Given the description of an element on the screen output the (x, y) to click on. 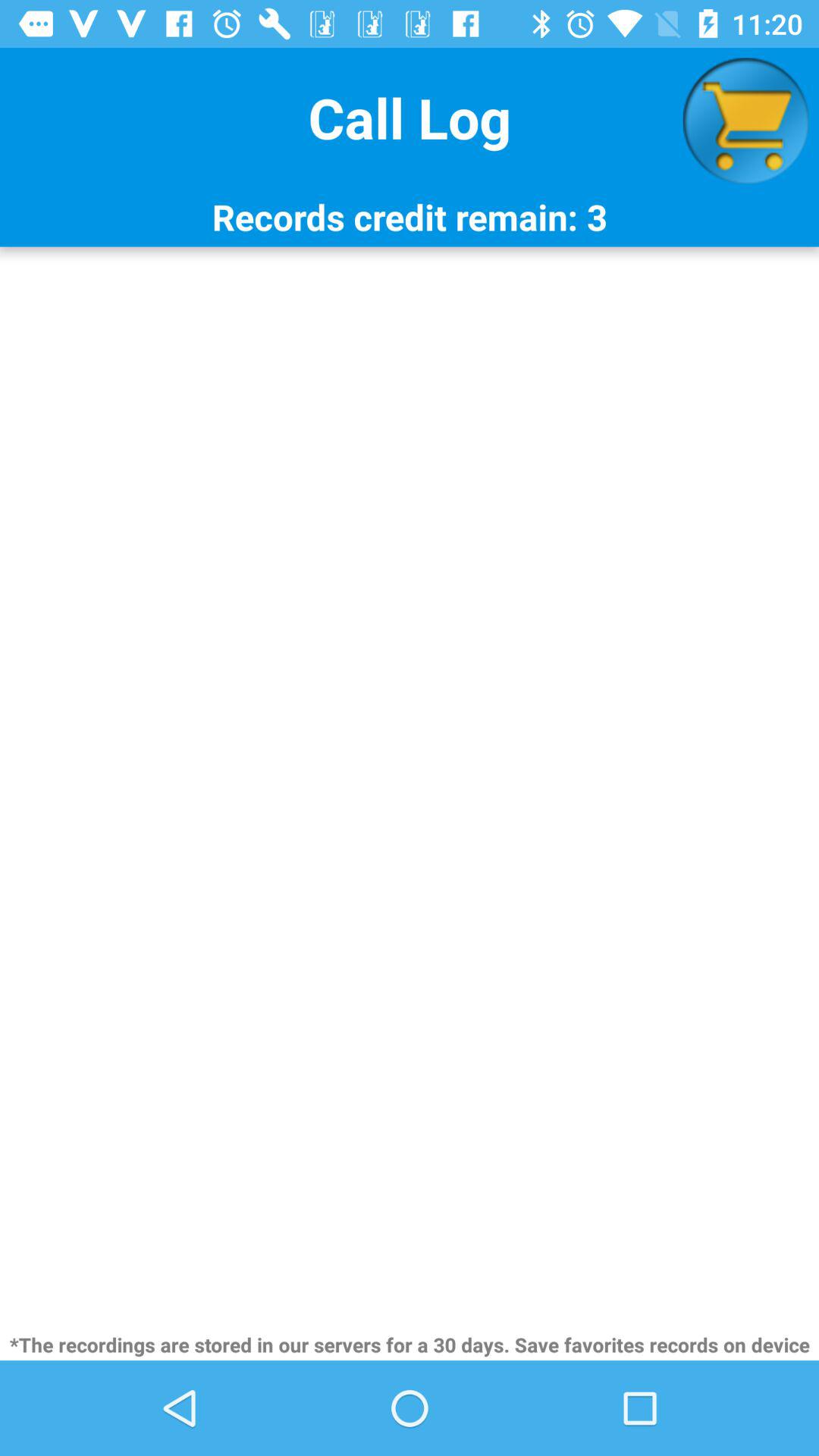
launch the icon at the center (409, 787)
